Given the description of an element on the screen output the (x, y) to click on. 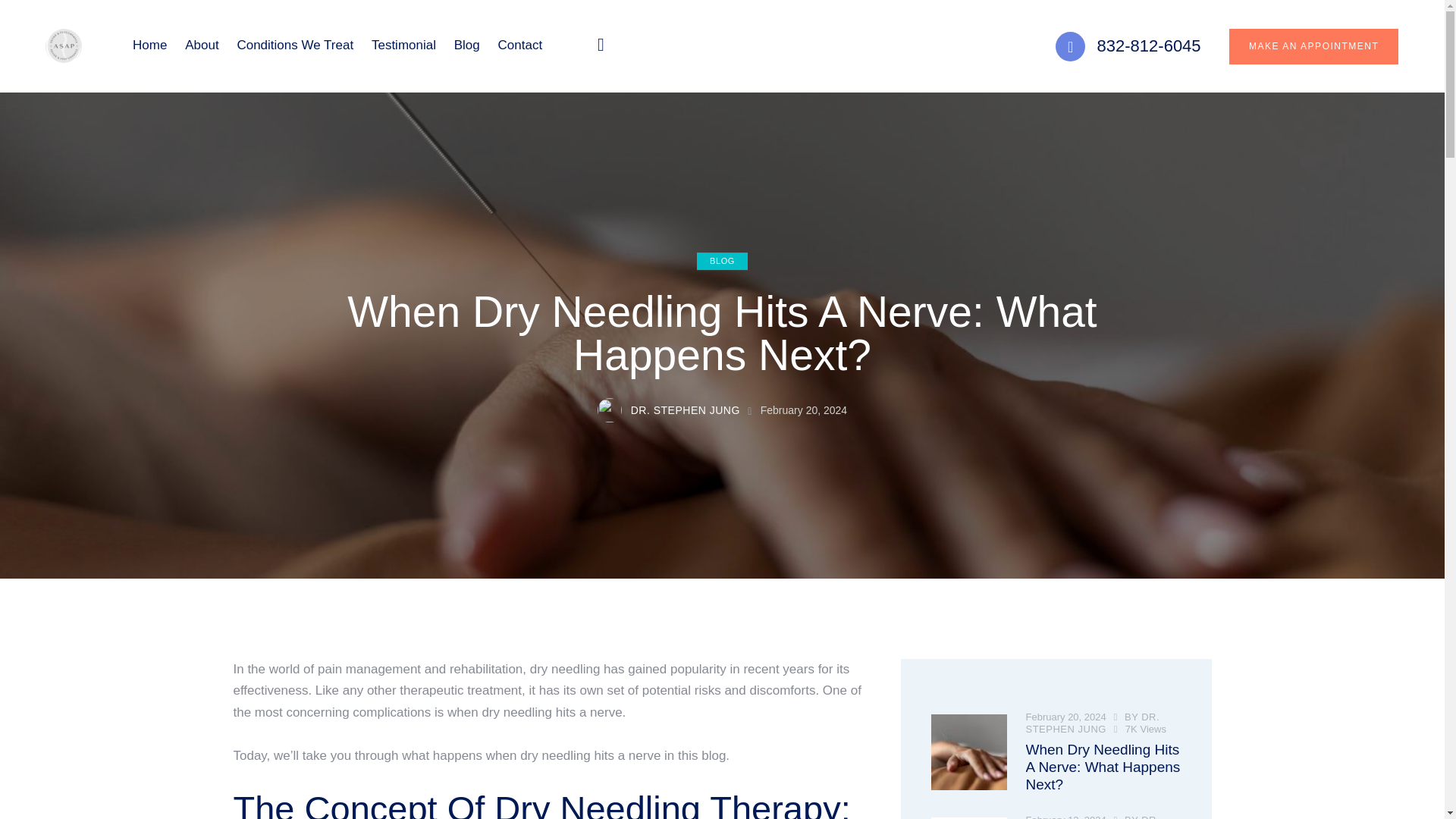
Blog (467, 46)
Conditions We Treat (295, 46)
Home (149, 46)
MAKE AN APPOINTMENT (1312, 46)
Contact (520, 46)
DR. STEPHEN JUNG (676, 411)
Testimonial (403, 46)
BLOG (722, 261)
832-812-6045 (1127, 46)
About (201, 46)
